Given the description of an element on the screen output the (x, y) to click on. 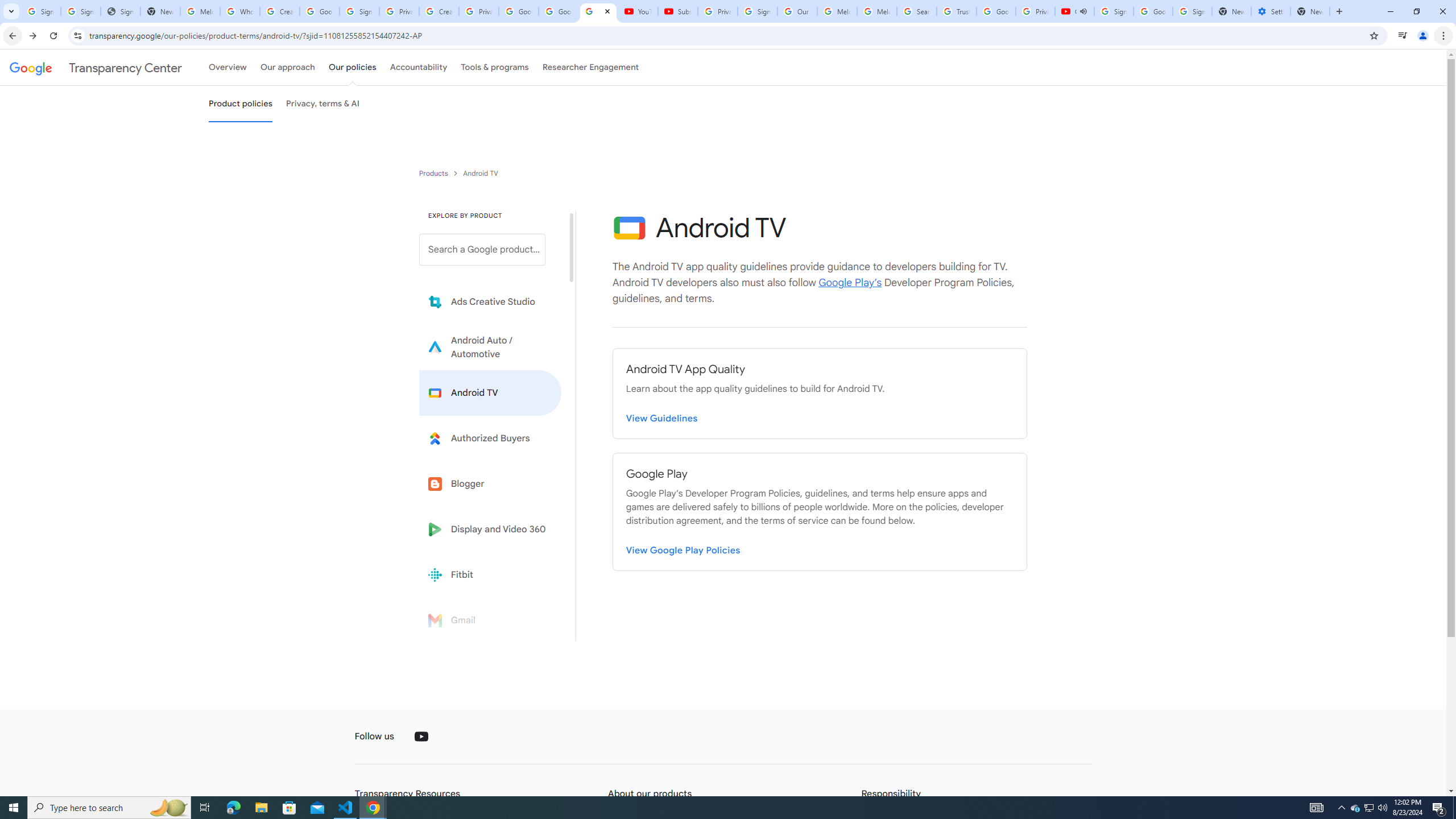
Settings - Addresses and more (1270, 11)
Blogger (490, 483)
View Guidelines (661, 418)
Privacy, terms & AI (322, 103)
Search a Google product from below list. (481, 249)
Learn more about Authorized Buyers (490, 438)
Android TV Policies and Guidelines - Transparency Center (598, 11)
Tools & programs (494, 67)
Learn more about Android Auto (490, 347)
